Given the description of an element on the screen output the (x, y) to click on. 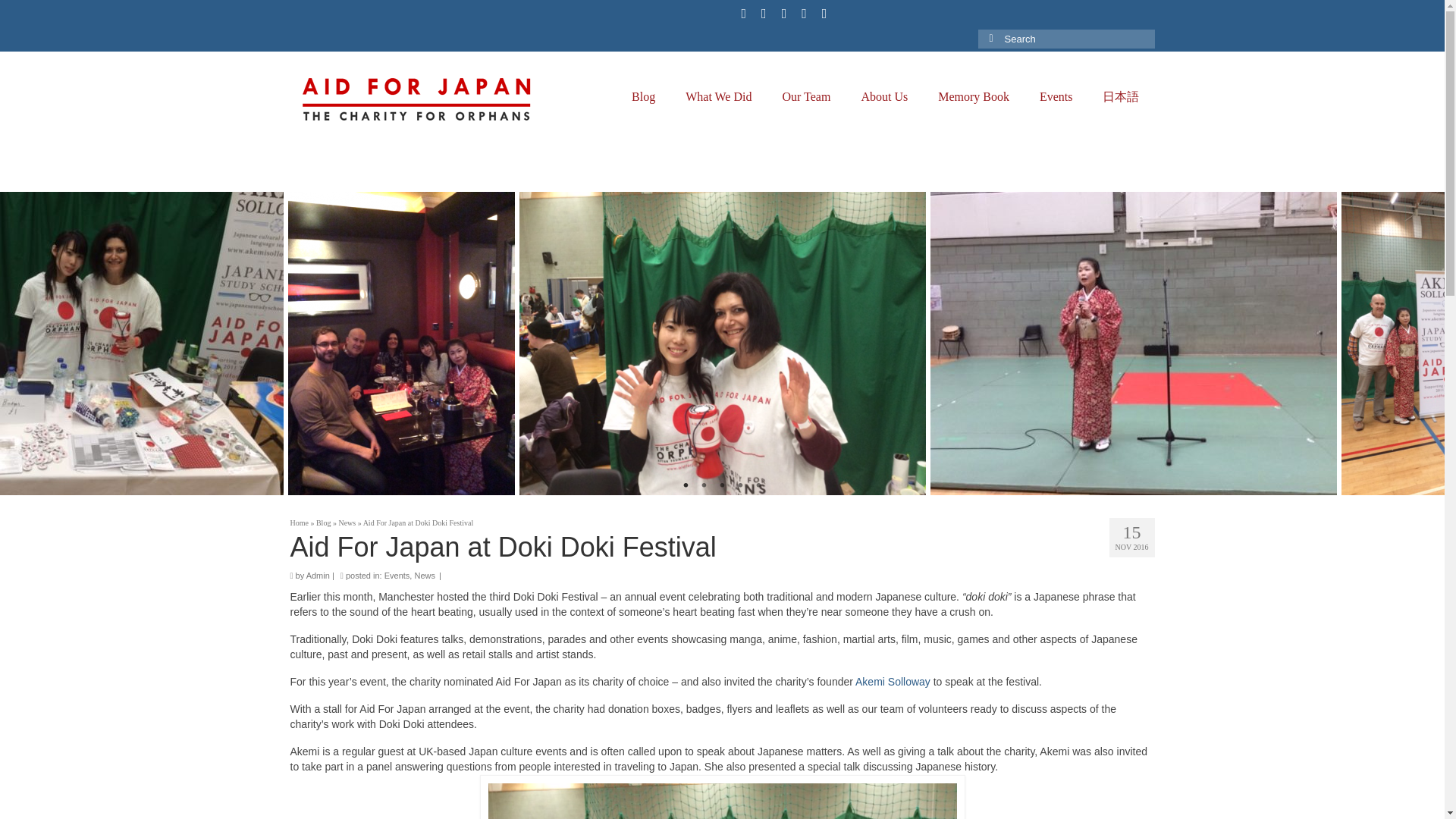
Memory Book (974, 96)
1 (685, 487)
Events (1056, 96)
Aid For Japan (425, 96)
Our Team (806, 96)
About Us (884, 96)
Blog (642, 96)
About Us (884, 96)
What We Did (718, 96)
Blog (642, 96)
Memory Book (974, 96)
